Given the description of an element on the screen output the (x, y) to click on. 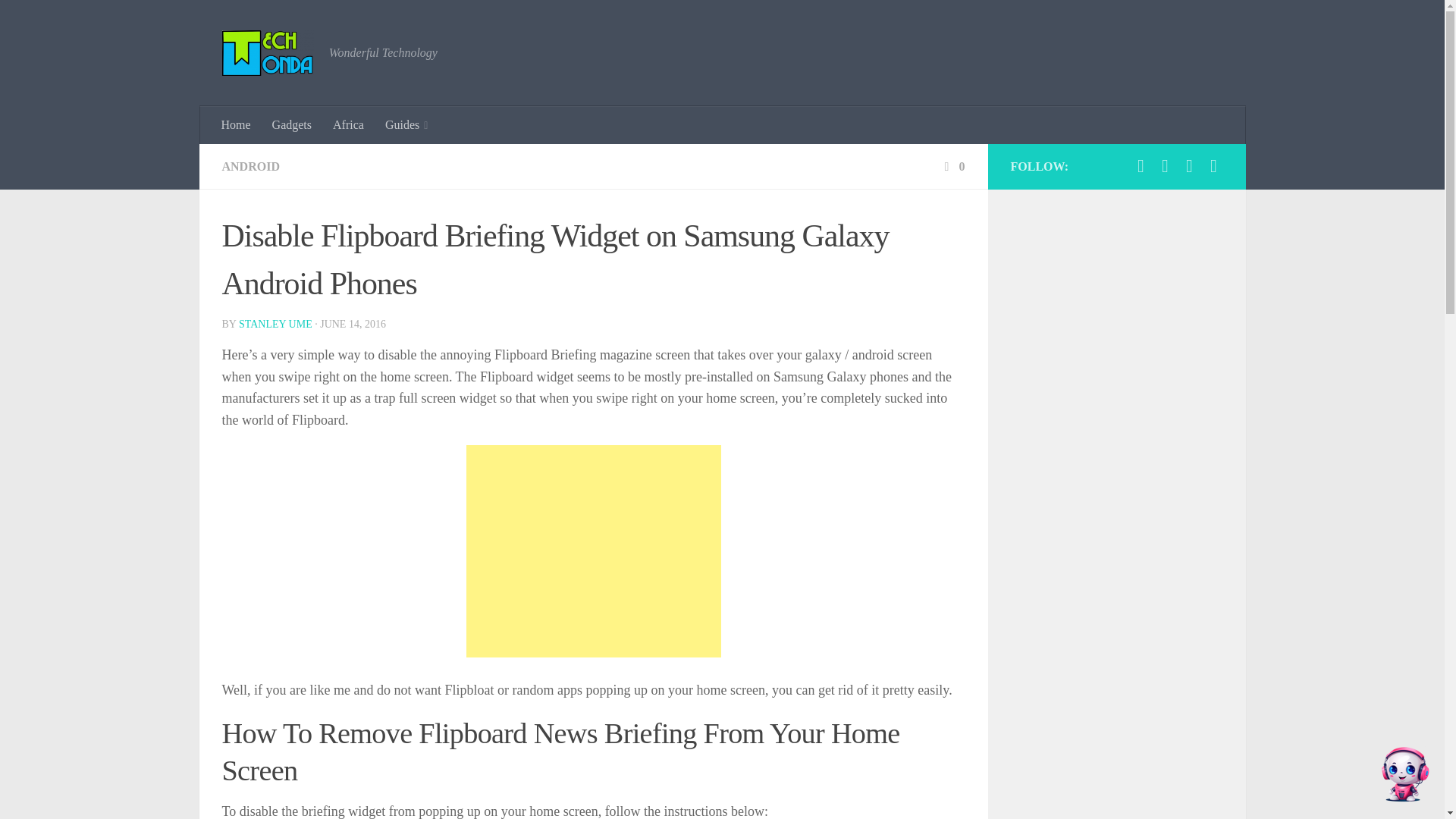
Facebook (1164, 166)
Posts by Stanley Ume (275, 324)
Guides (406, 125)
ANDROID (250, 165)
RSS (1213, 166)
Africa (347, 125)
Home (236, 125)
STANLEY UME (275, 324)
Gadgets (291, 125)
Skip to content (59, 20)
